Given the description of an element on the screen output the (x, y) to click on. 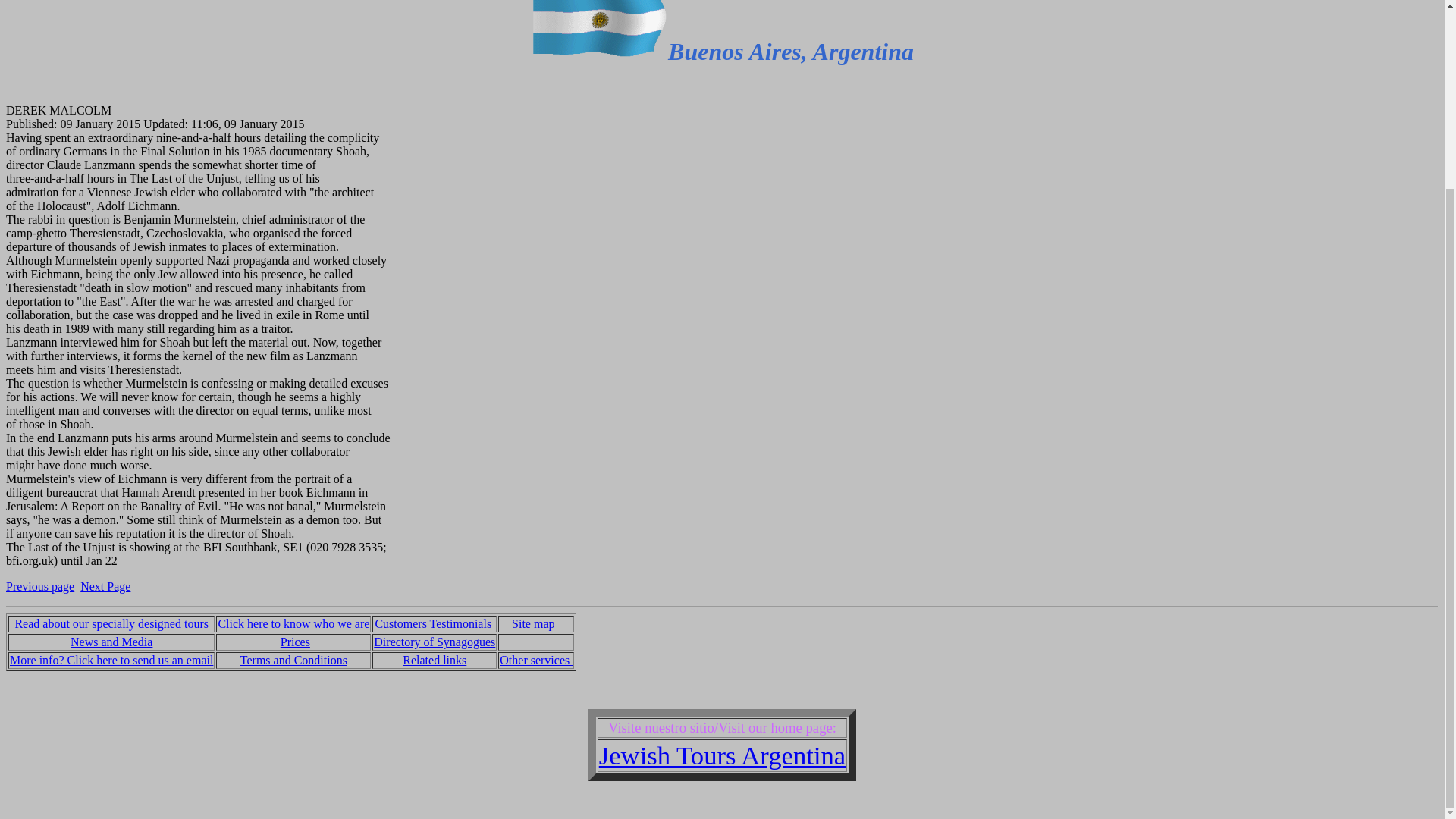
Customers Testimonials (433, 623)
Site map (533, 623)
More info? Click here to send us an email (111, 659)
Directory of Synagogues (434, 641)
Jewish Tours Argentina (721, 755)
Previous page (39, 585)
Other services  (535, 659)
Prices (295, 641)
Read about our specially designed tours (111, 623)
Next Page (105, 585)
